Given the description of an element on the screen output the (x, y) to click on. 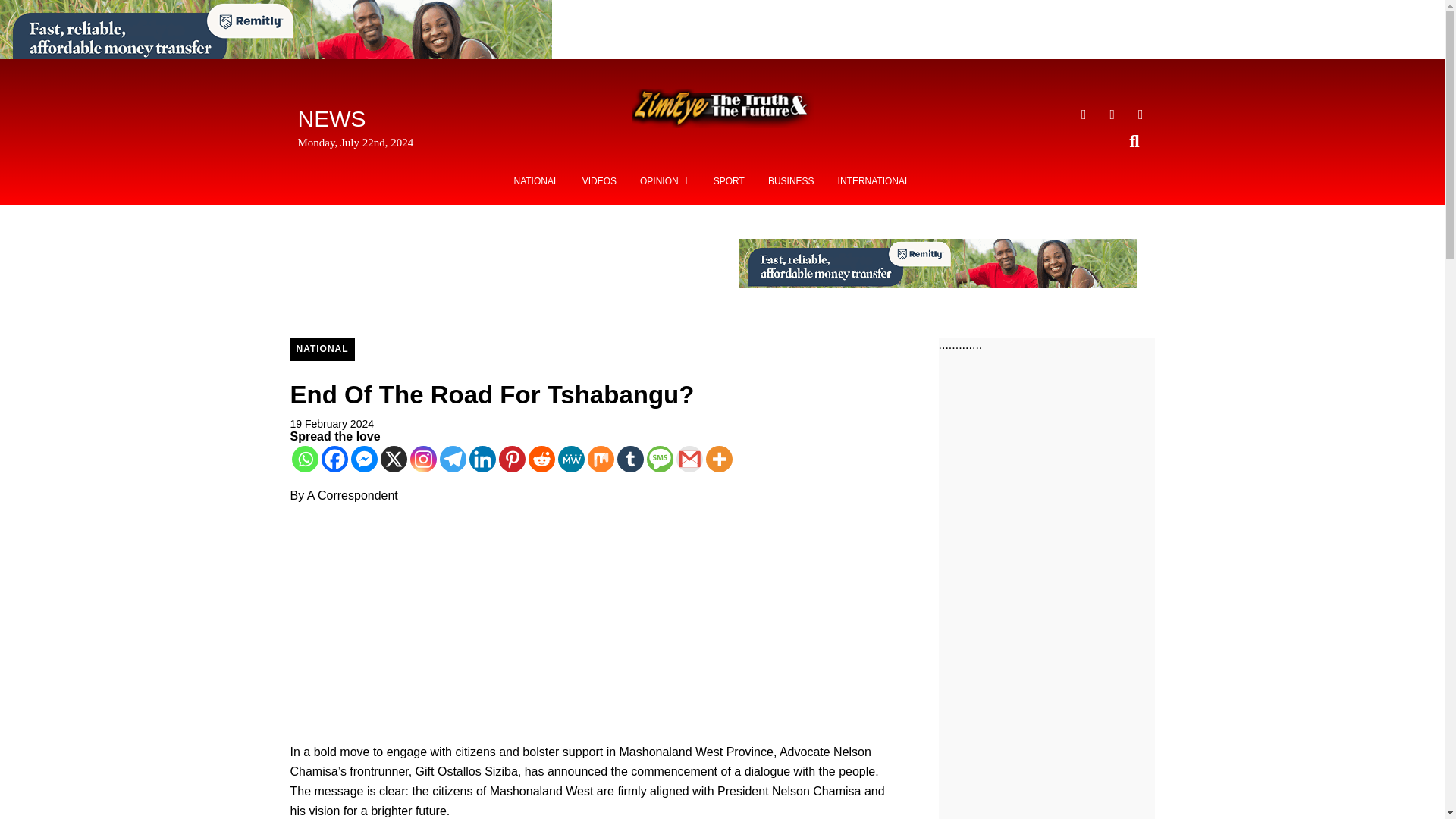
Search (1125, 141)
X (393, 458)
Instagram (422, 458)
Facebook (334, 458)
Telegram (452, 458)
NATIONAL (536, 181)
SPORT (728, 181)
OPINION (665, 181)
NATIONAL (321, 349)
Linkedin (481, 458)
Pinterest (512, 458)
INTERNATIONAL (874, 181)
BUSINESS (790, 181)
Whatsapp (304, 458)
Mix (599, 458)
